Given the description of an element on the screen output the (x, y) to click on. 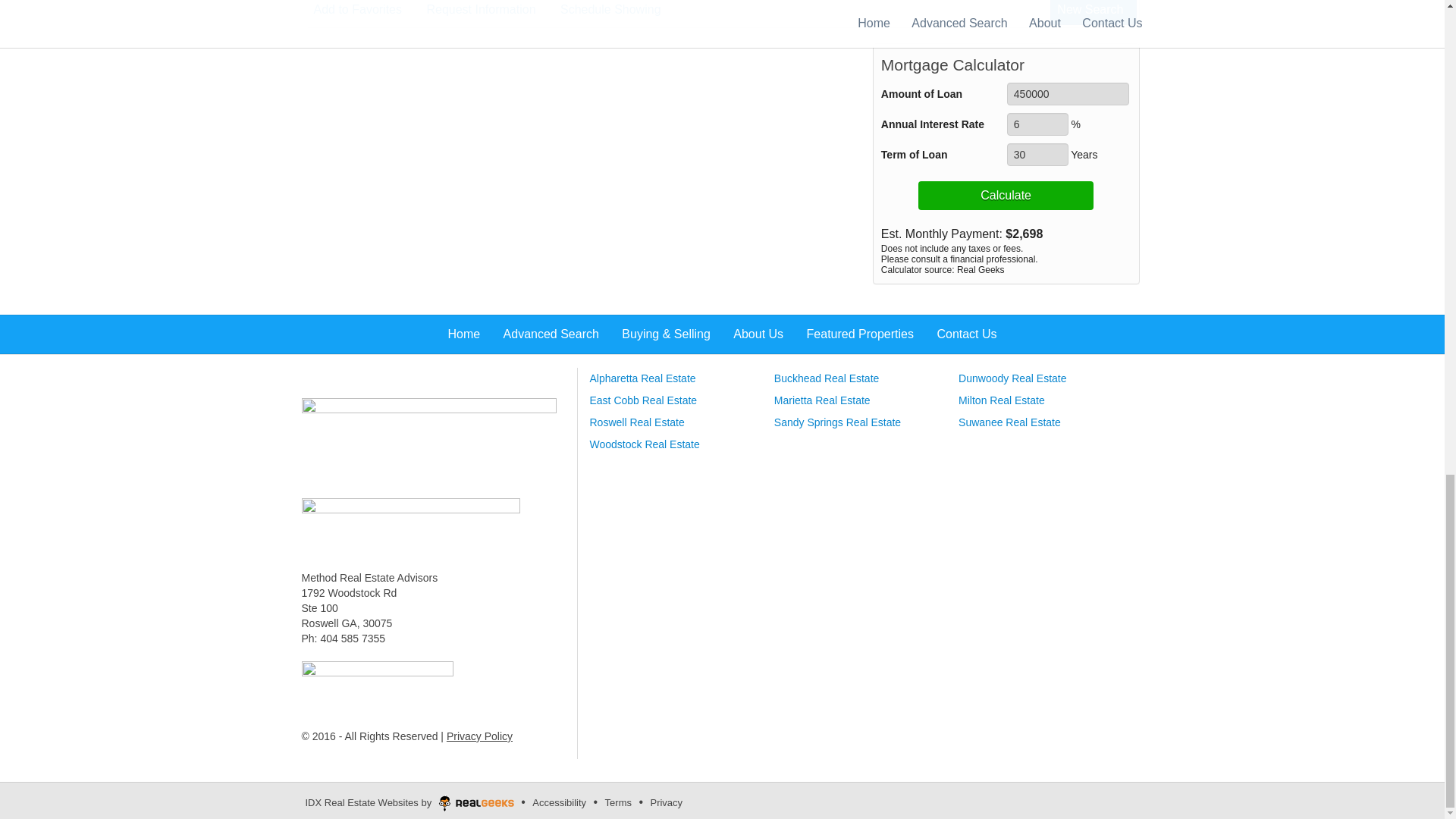
6 (1037, 124)
30 (1037, 154)
Privacy Policy for GeorgiaAR.com (479, 736)
450000 (1068, 93)
Advanced Search (428, 439)
